Given the description of an element on the screen output the (x, y) to click on. 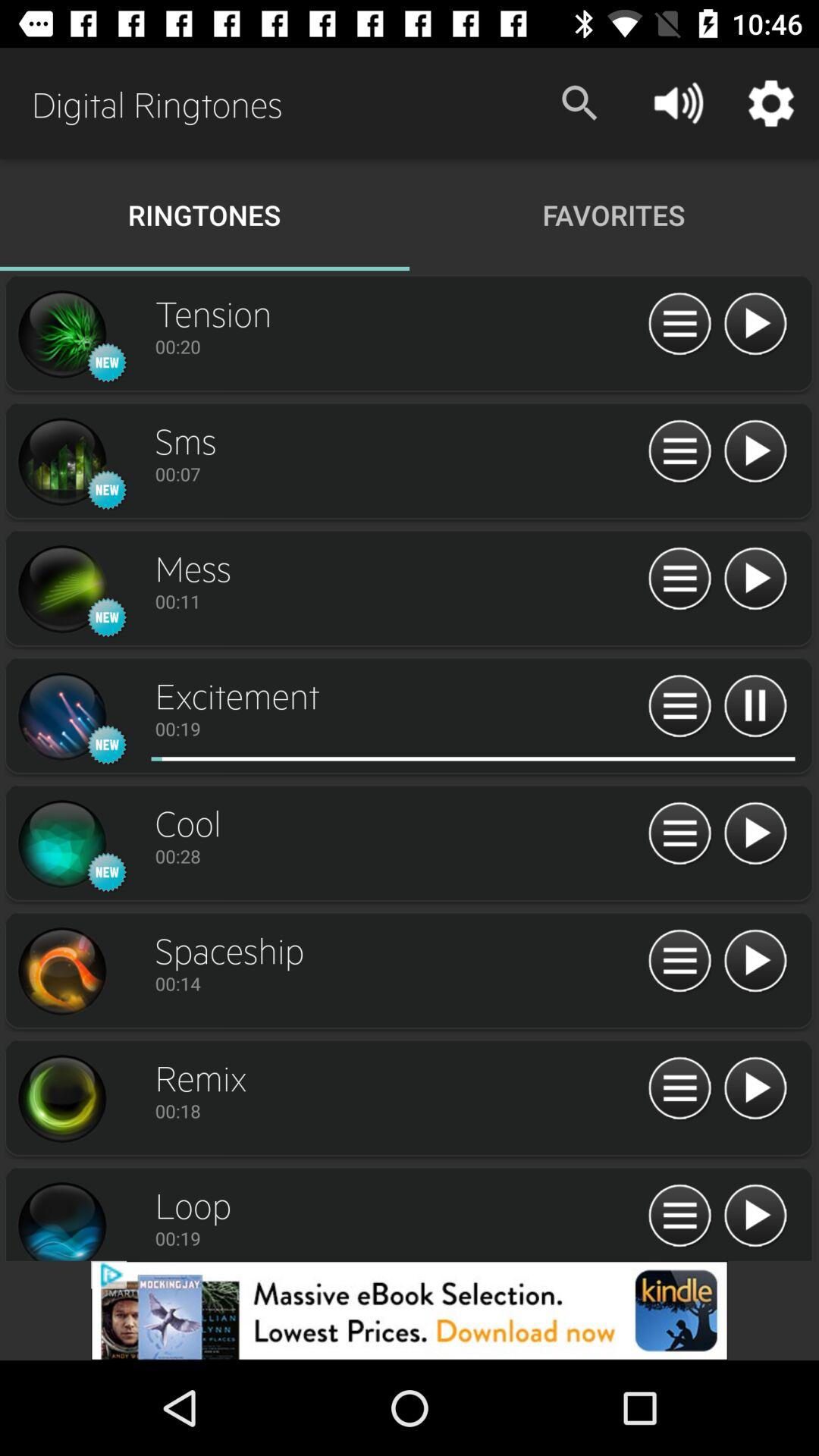
play ringtone (755, 1088)
